Given the description of an element on the screen output the (x, y) to click on. 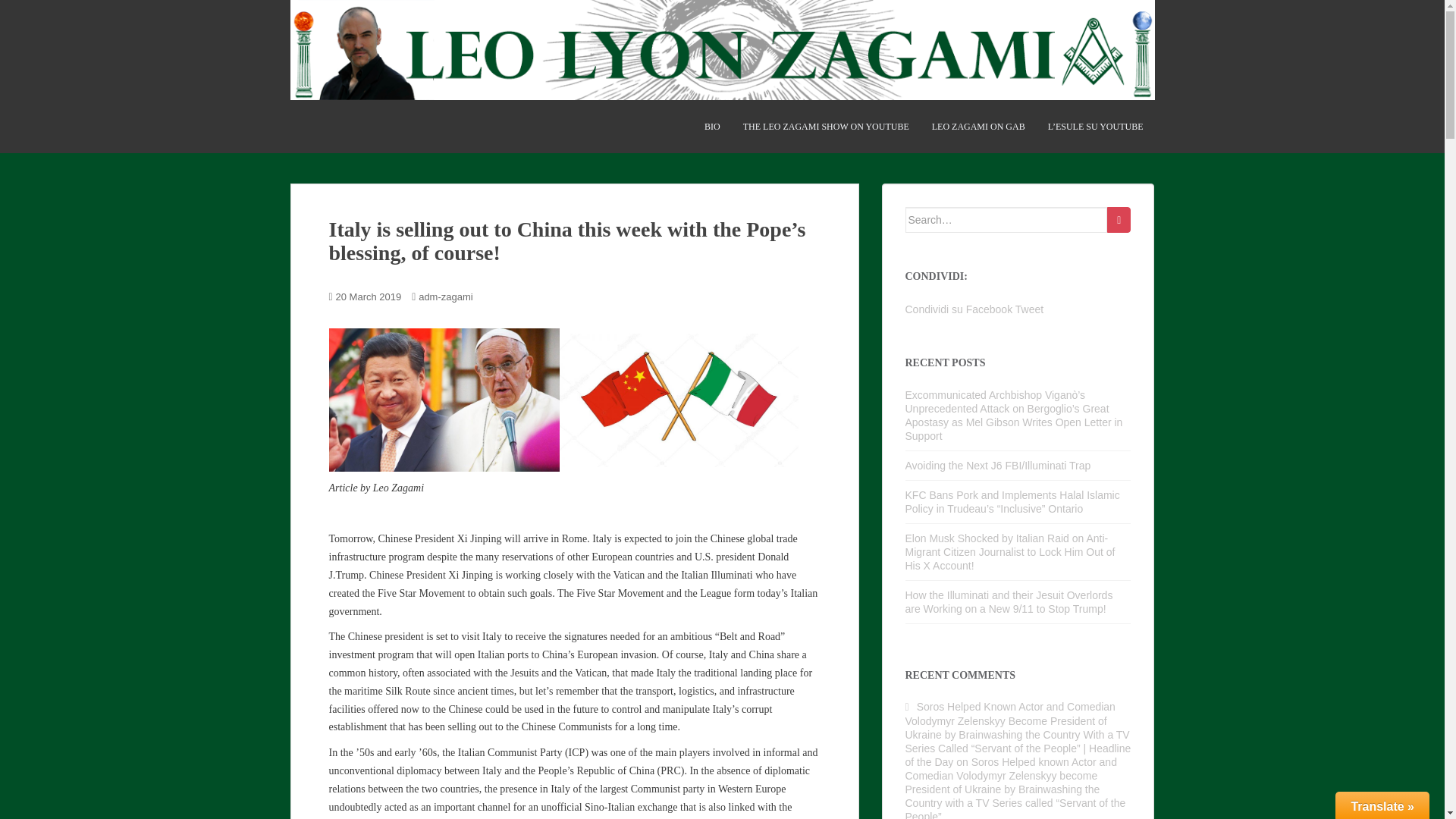
Search for: (1006, 219)
adm-zagami (446, 296)
20 March 2019 (368, 296)
Tweet (1028, 309)
THE LEO ZAGAMI SHOW (825, 126)
Search (1118, 219)
LEO ZAGAMI ON GAB (978, 126)
Condividi su Facebook (959, 309)
THE LEO ZAGAMI SHOW ON YOUTUBE (825, 126)
